Given the description of an element on the screen output the (x, y) to click on. 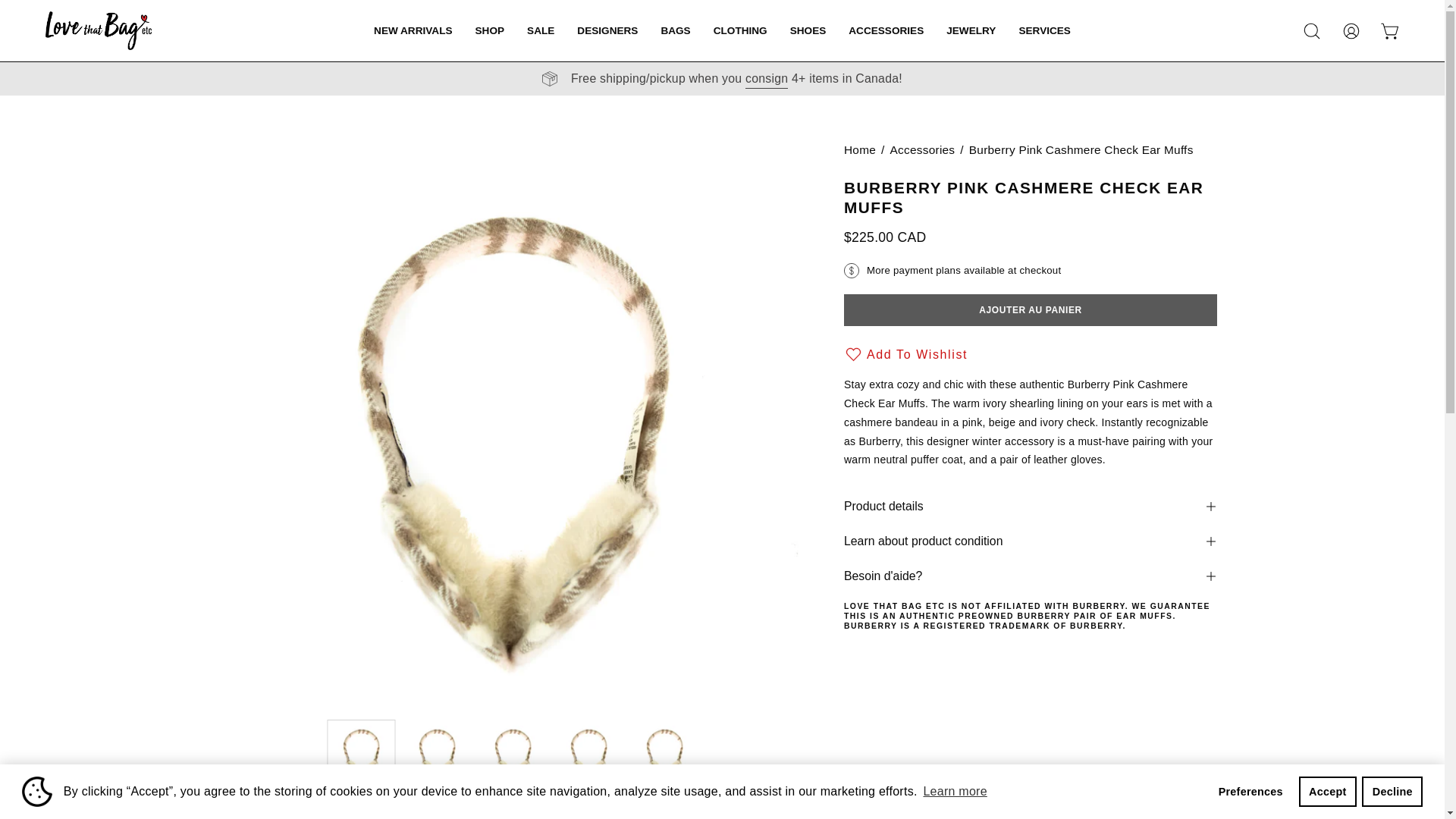
Preferences (1250, 791)
Learn about luxury consignment in Canada (766, 78)
Learn more (955, 791)
Ouvrir la barre de recherche (1311, 30)
Retour a la page d'acceuil (860, 149)
Accept (1327, 791)
Decline (1391, 791)
